Given the description of an element on the screen output the (x, y) to click on. 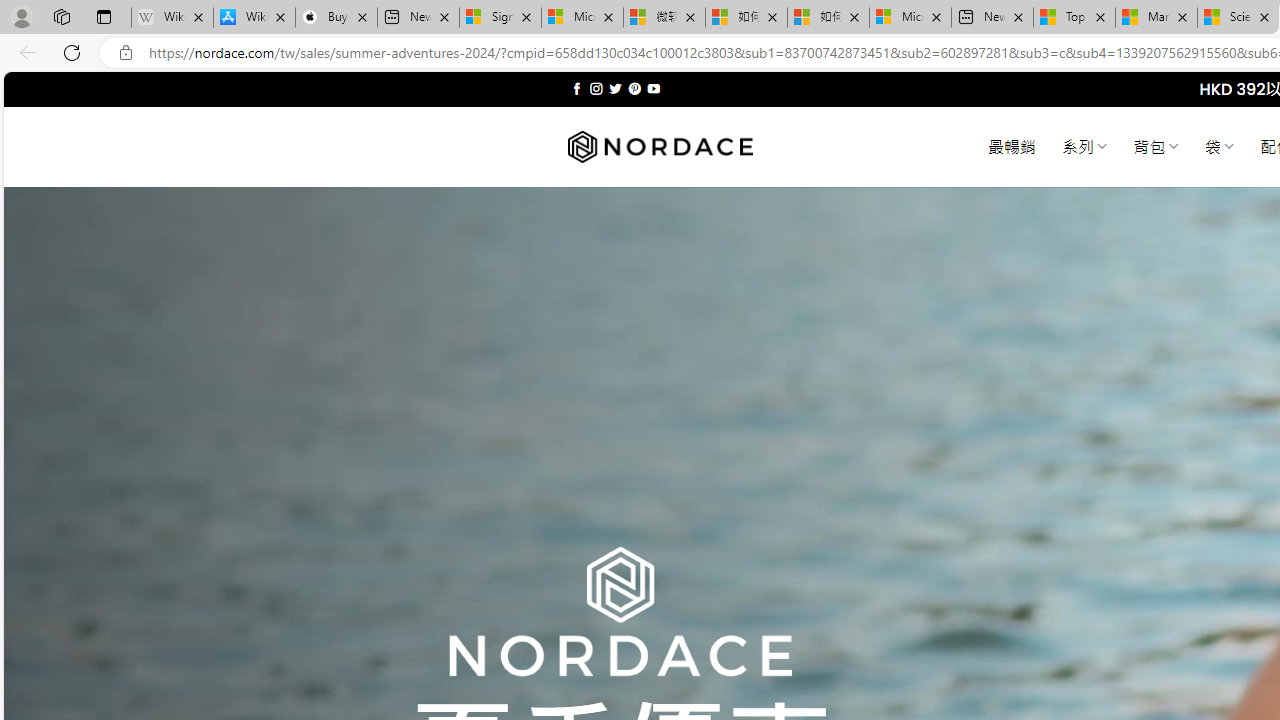
Follow on Instagram (596, 88)
Follow on Facebook (576, 88)
